Given the description of an element on the screen output the (x, y) to click on. 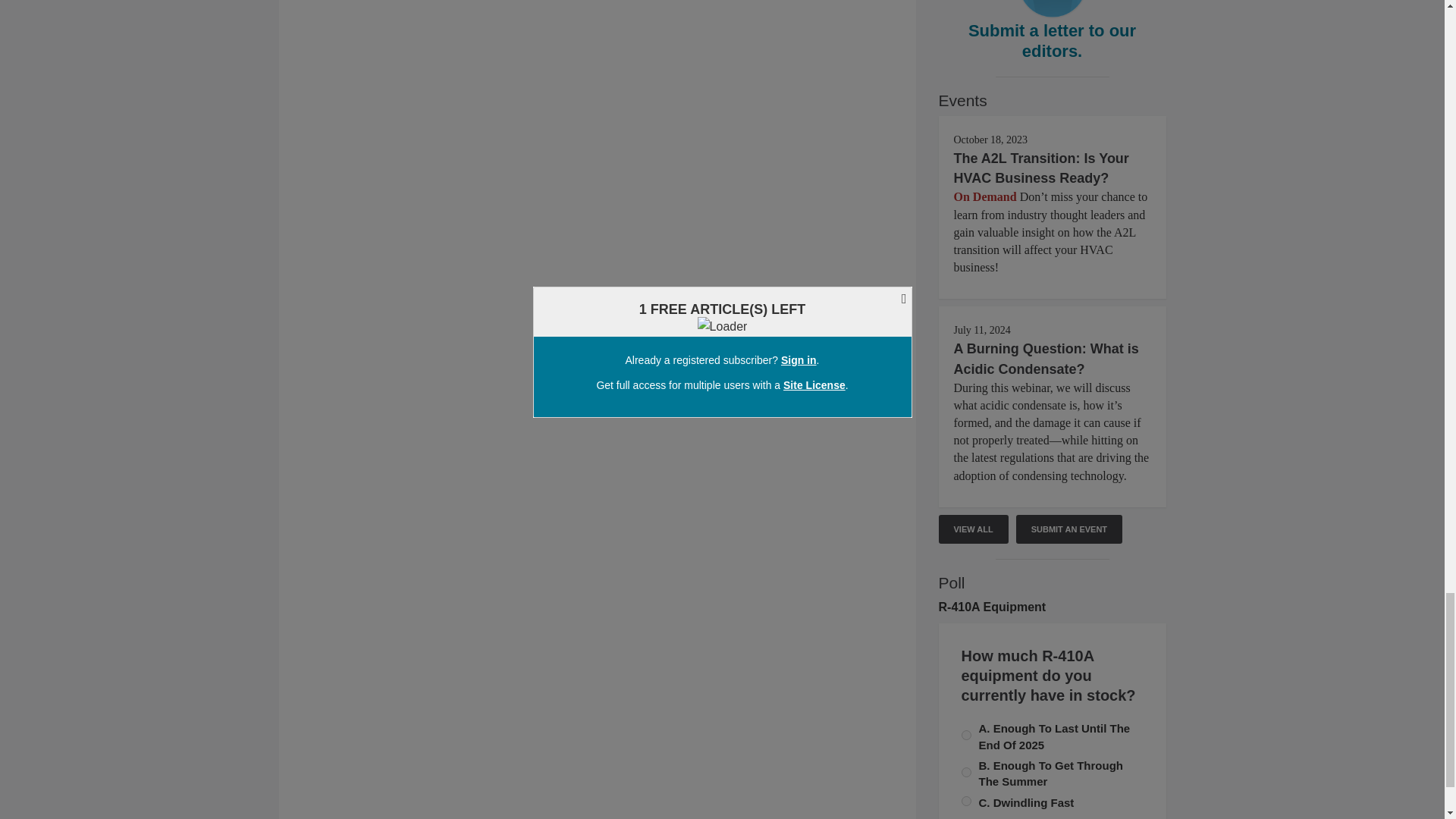
A Burning Question: What is Acidic Condensate? (1045, 358)
597 (965, 735)
596 (965, 772)
598 (965, 800)
The A2L Transition: Is Your HVAC Business Ready? (1041, 167)
